Given the description of an element on the screen output the (x, y) to click on. 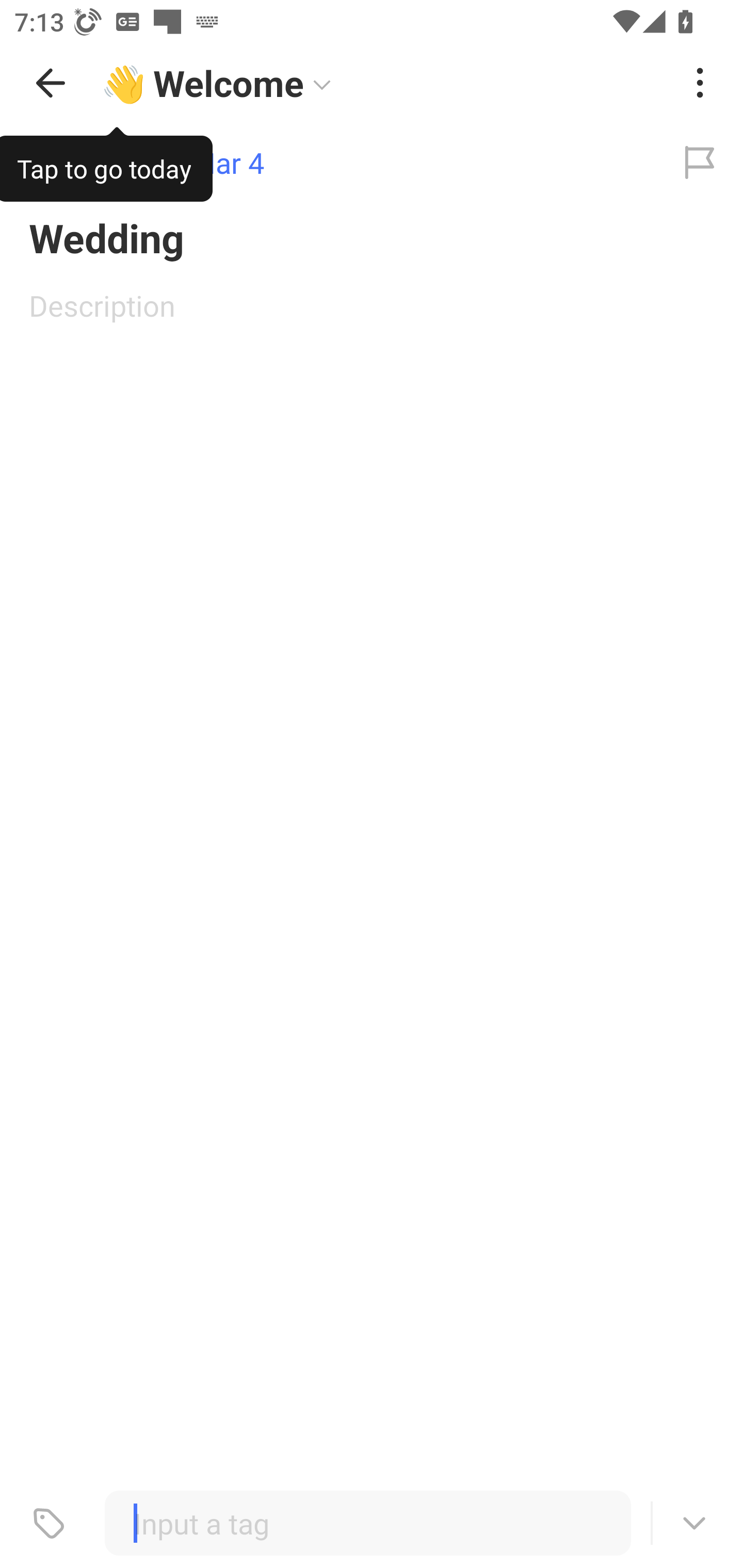
👋 Welcome (384, 82)
Tap to go today (106, 164)
Wedding (371, 237)
Description (371, 304)
Description (371, 304)
Input a tag (367, 1523)
